Given the description of an element on the screen output the (x, y) to click on. 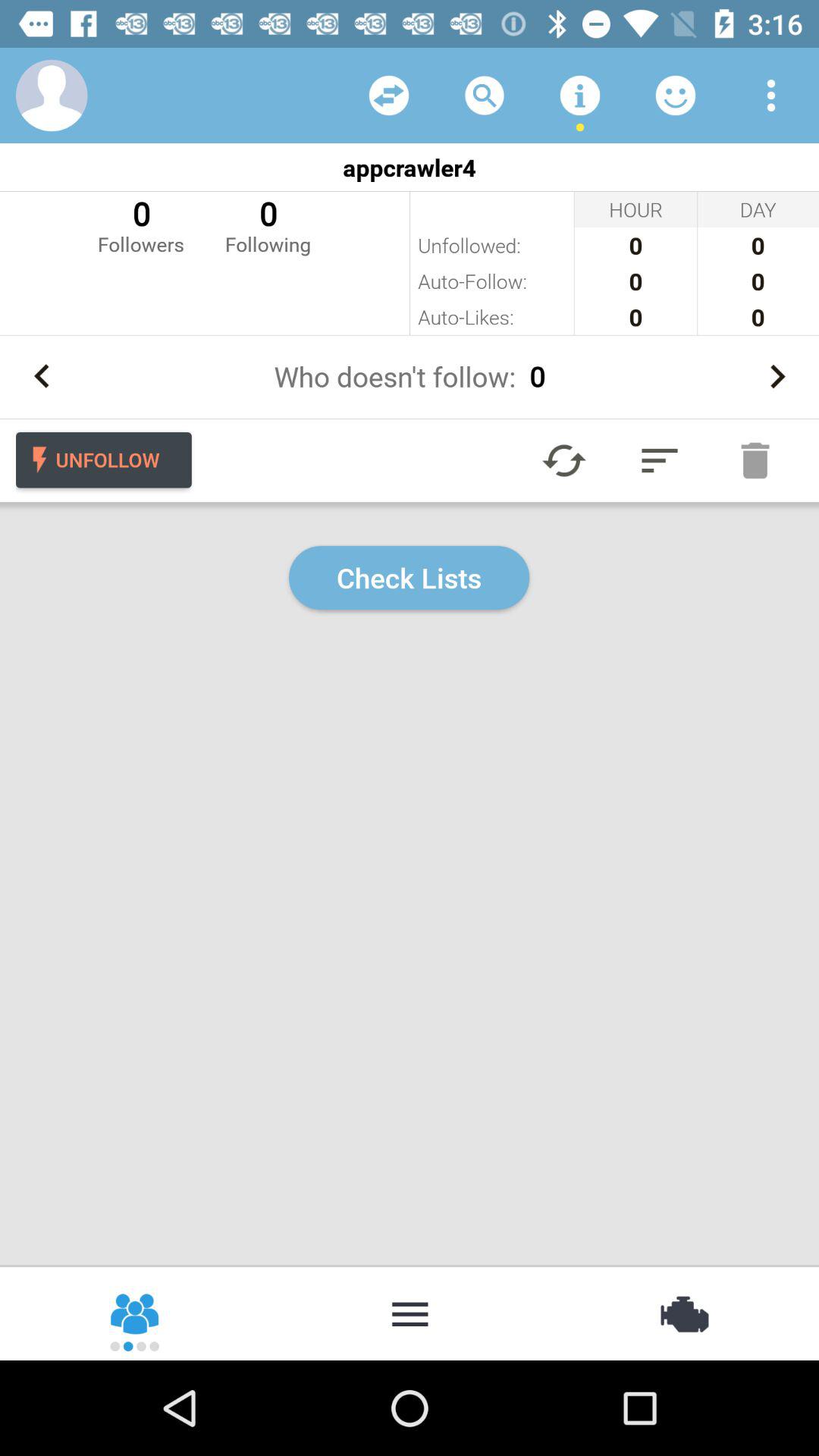
serch (484, 95)
